Given the description of an element on the screen output the (x, y) to click on. 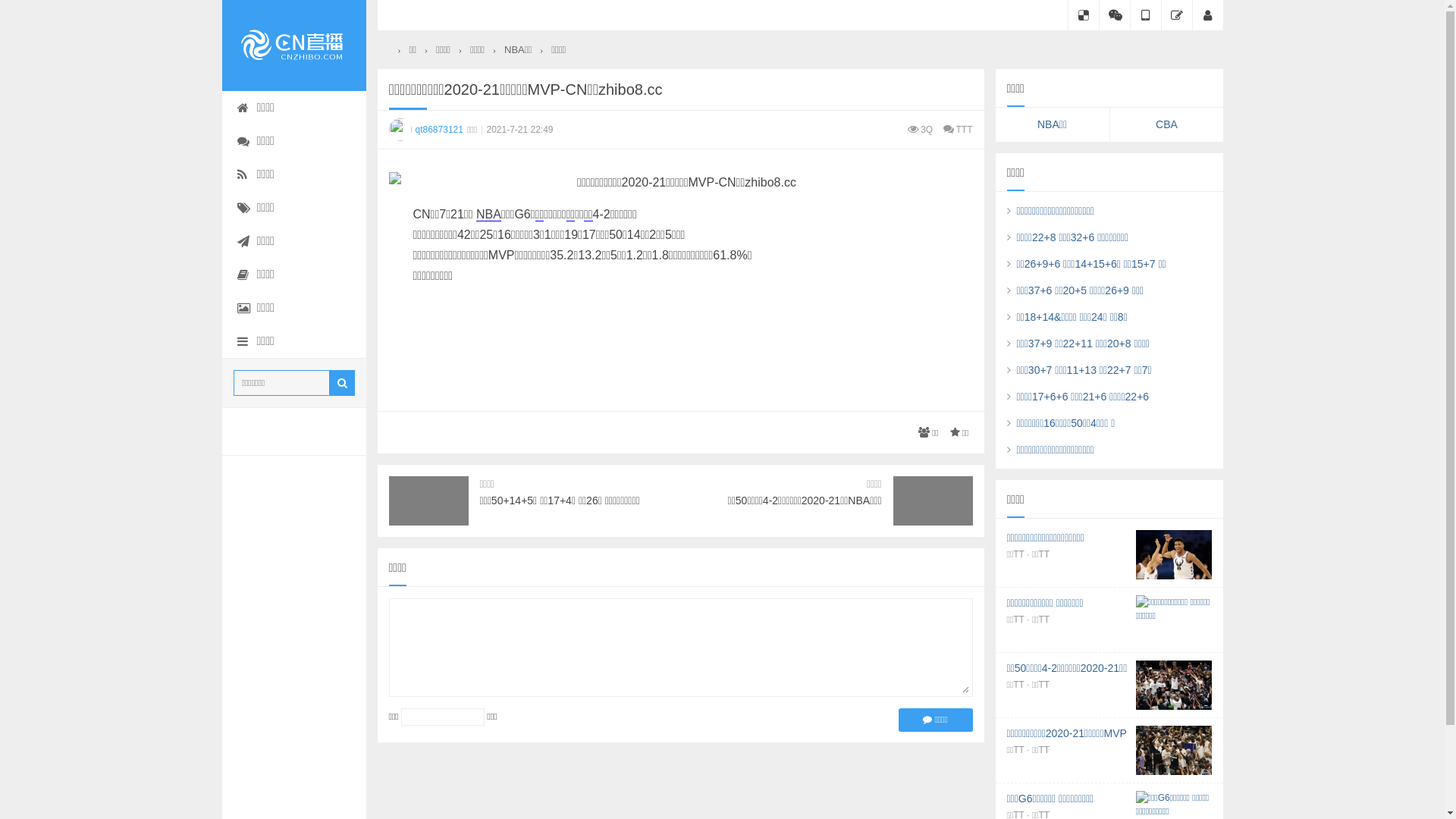
CBA Element type: text (1166, 124)
qt86873121 Element type: text (427, 129)
NBA Element type: text (488, 214)
